Given the description of an element on the screen output the (x, y) to click on. 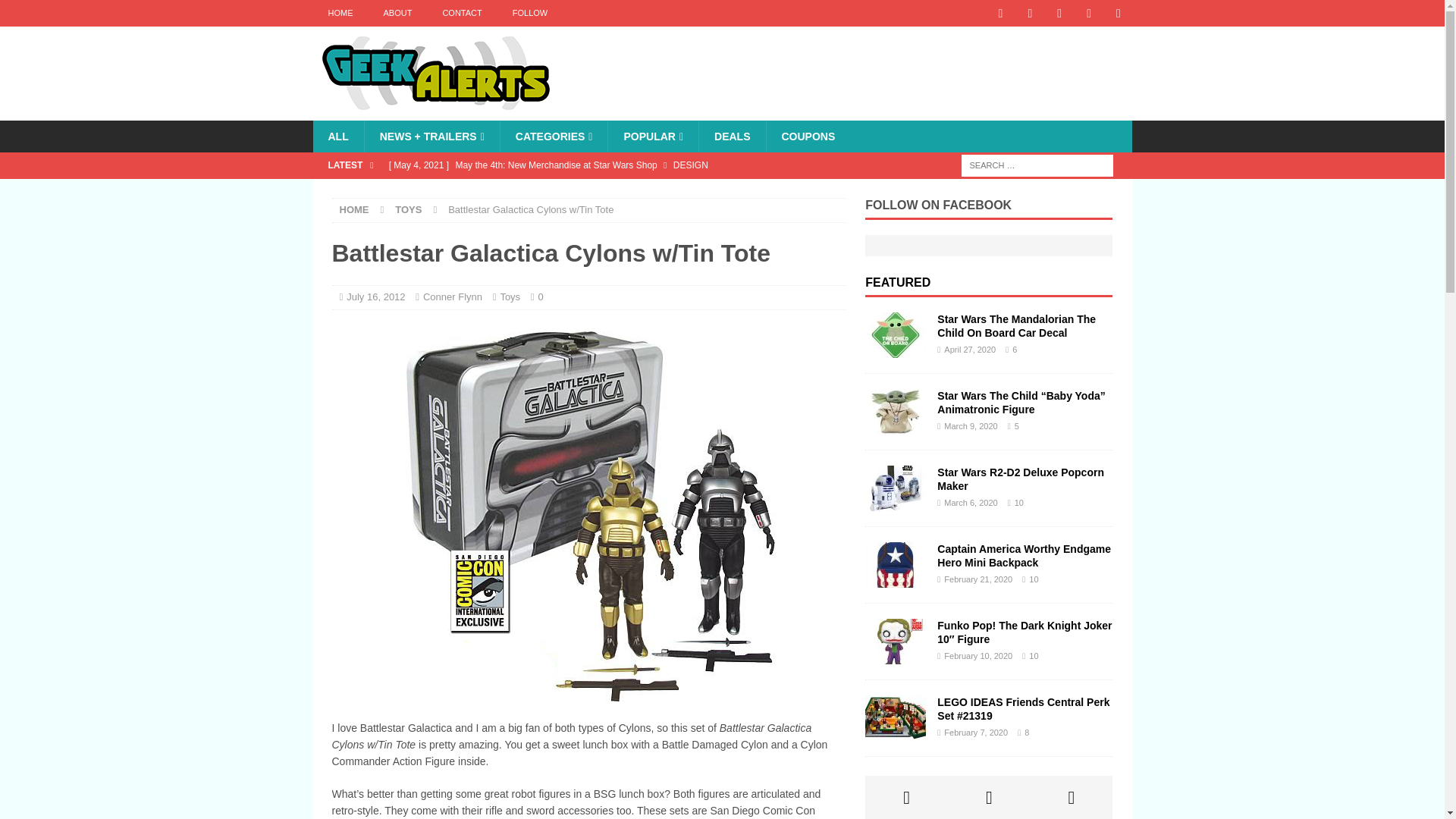
DEALS (731, 136)
May the 4th: New Merchandise at Star Wars Shop (612, 165)
HOME (354, 209)
HOME (340, 13)
ALL (337, 136)
Search (56, 11)
0 (540, 296)
July 16, 2012 (375, 296)
TOYS (408, 209)
CATEGORIES (553, 136)
Rick and Morty Get Shwifty Bluetooth Speaker (612, 190)
ABOUT (398, 13)
Toys (509, 296)
Conner Flynn (452, 296)
